Given the description of an element on the screen output the (x, y) to click on. 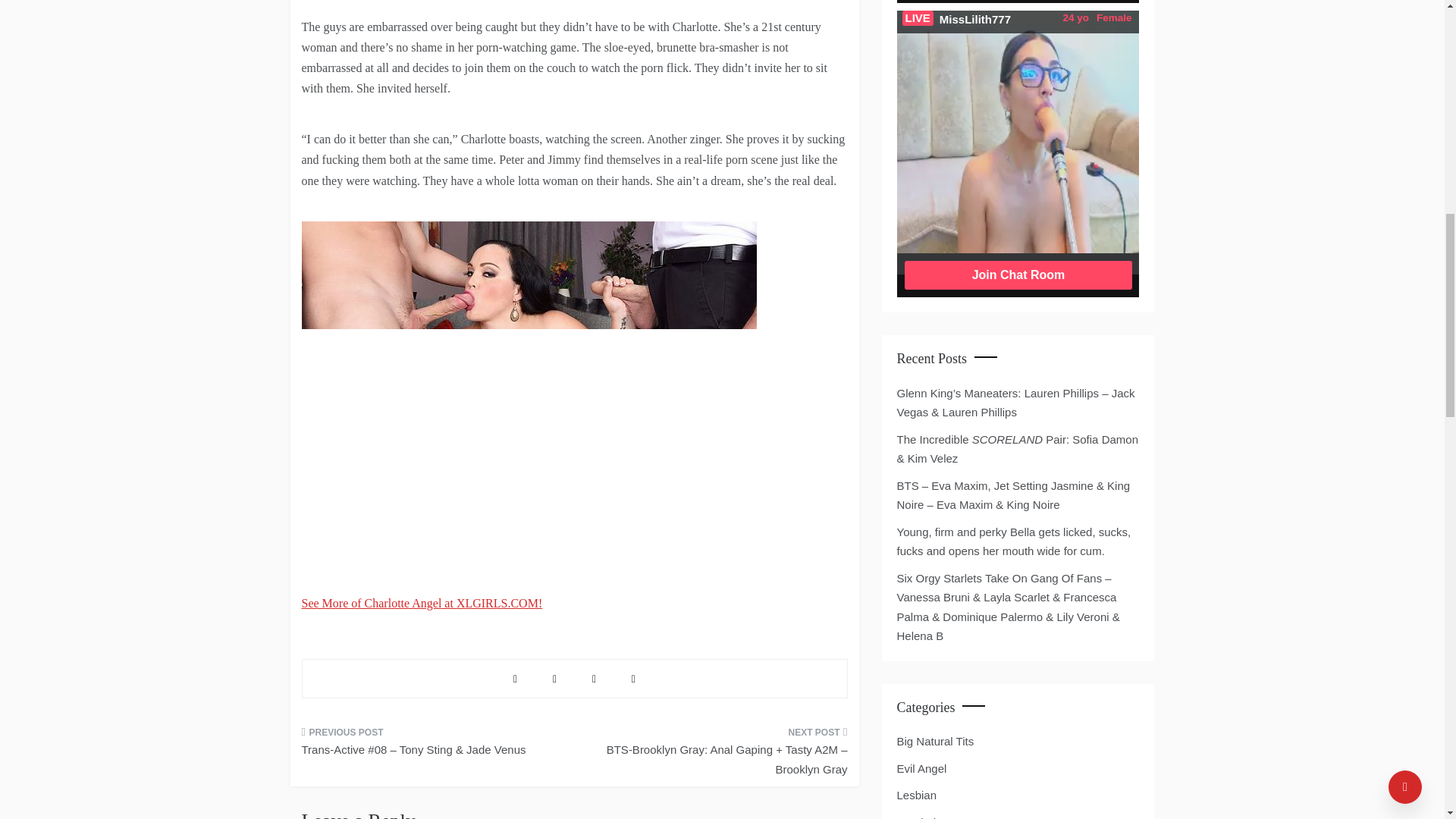
Pornhub (917, 816)
Evil Angel (921, 768)
Lesbian (916, 795)
See More of Charlotte Angel at XLGIRLS.COM! (422, 603)
Big Natural Tits (935, 741)
